Given the description of an element on the screen output the (x, y) to click on. 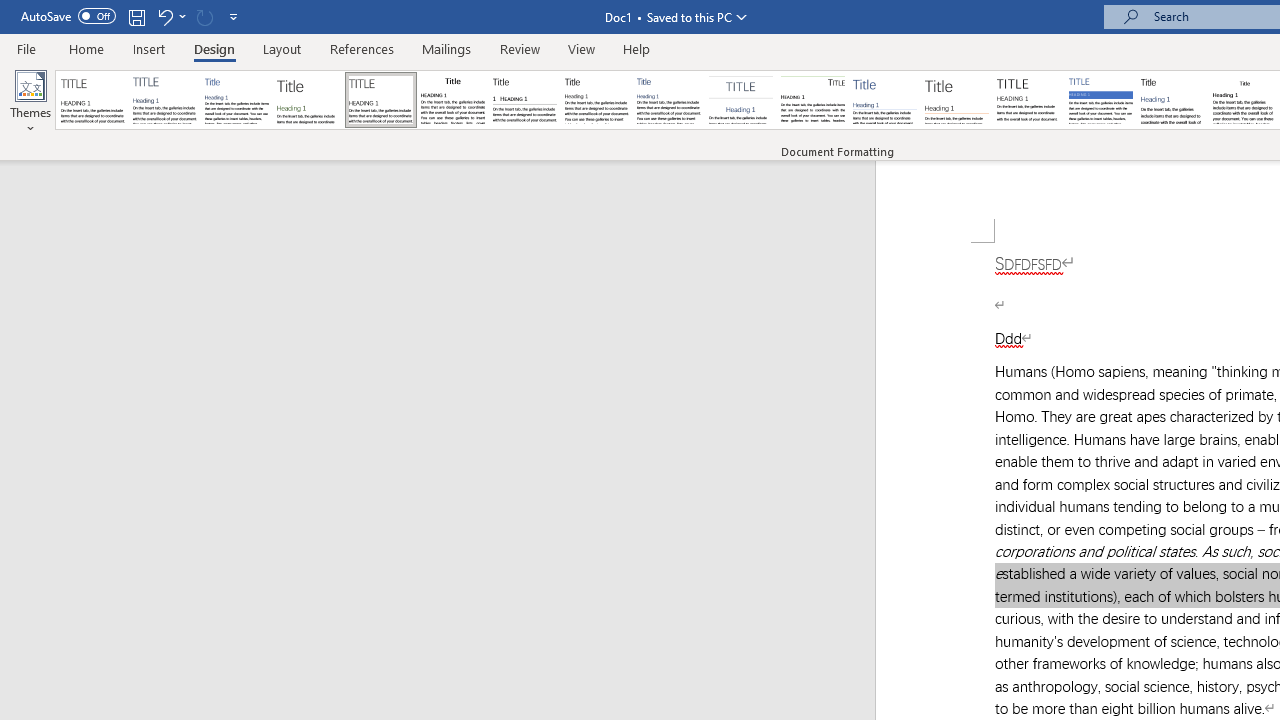
Can't Repeat (204, 15)
Basic (Elegant) (164, 100)
Basic (Stylish) (308, 100)
Black & White (Numbered) (524, 100)
